Given the description of an element on the screen output the (x, y) to click on. 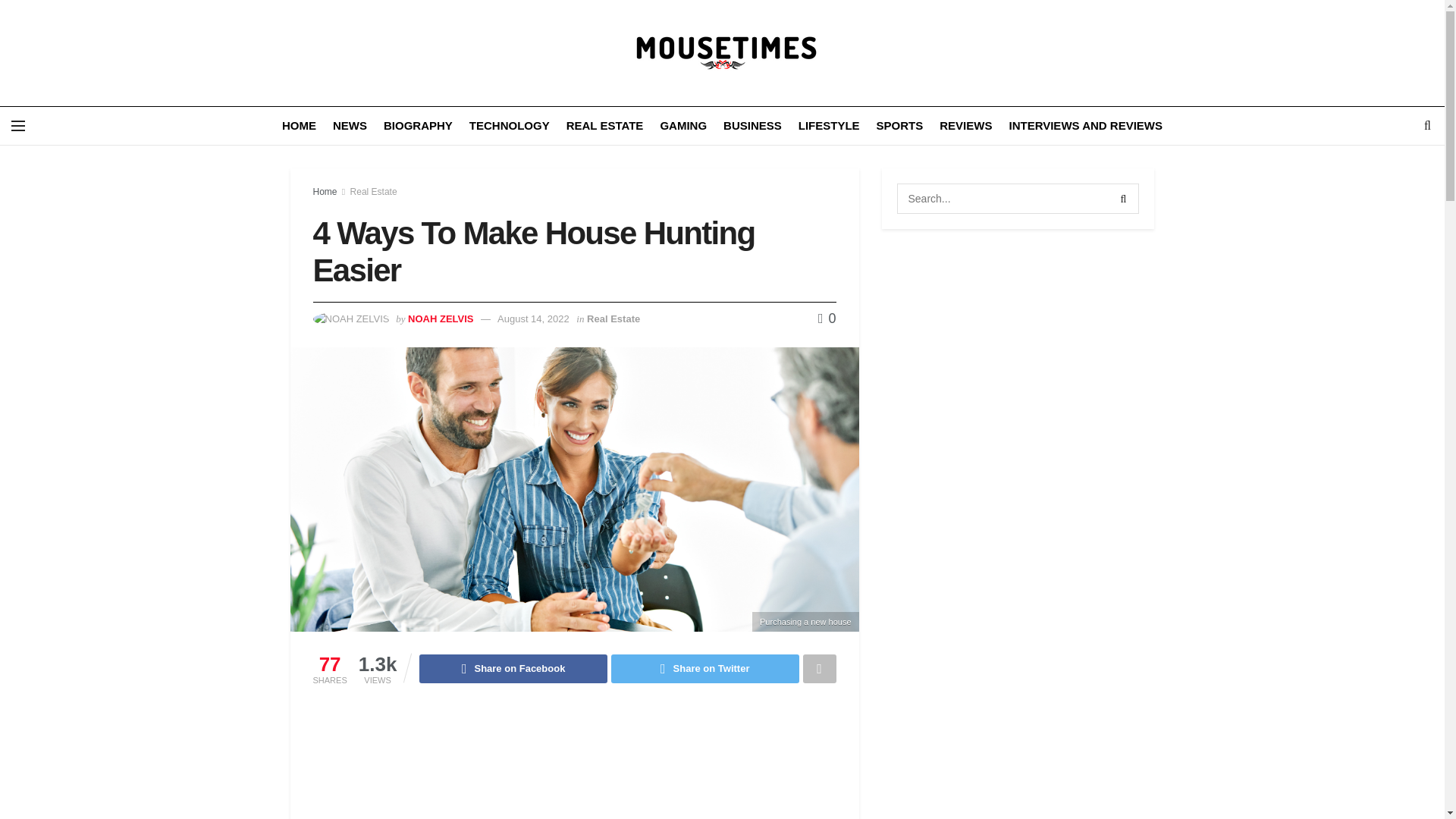
LIFESTYLE (828, 125)
SPORTS (899, 125)
TECHNOLOGY (509, 125)
NEWS (349, 125)
NOAH ZELVIS (440, 318)
BIOGRAPHY (418, 125)
REAL ESTATE (604, 125)
BUSINESS (752, 125)
HOME (298, 125)
